Given the description of an element on the screen output the (x, y) to click on. 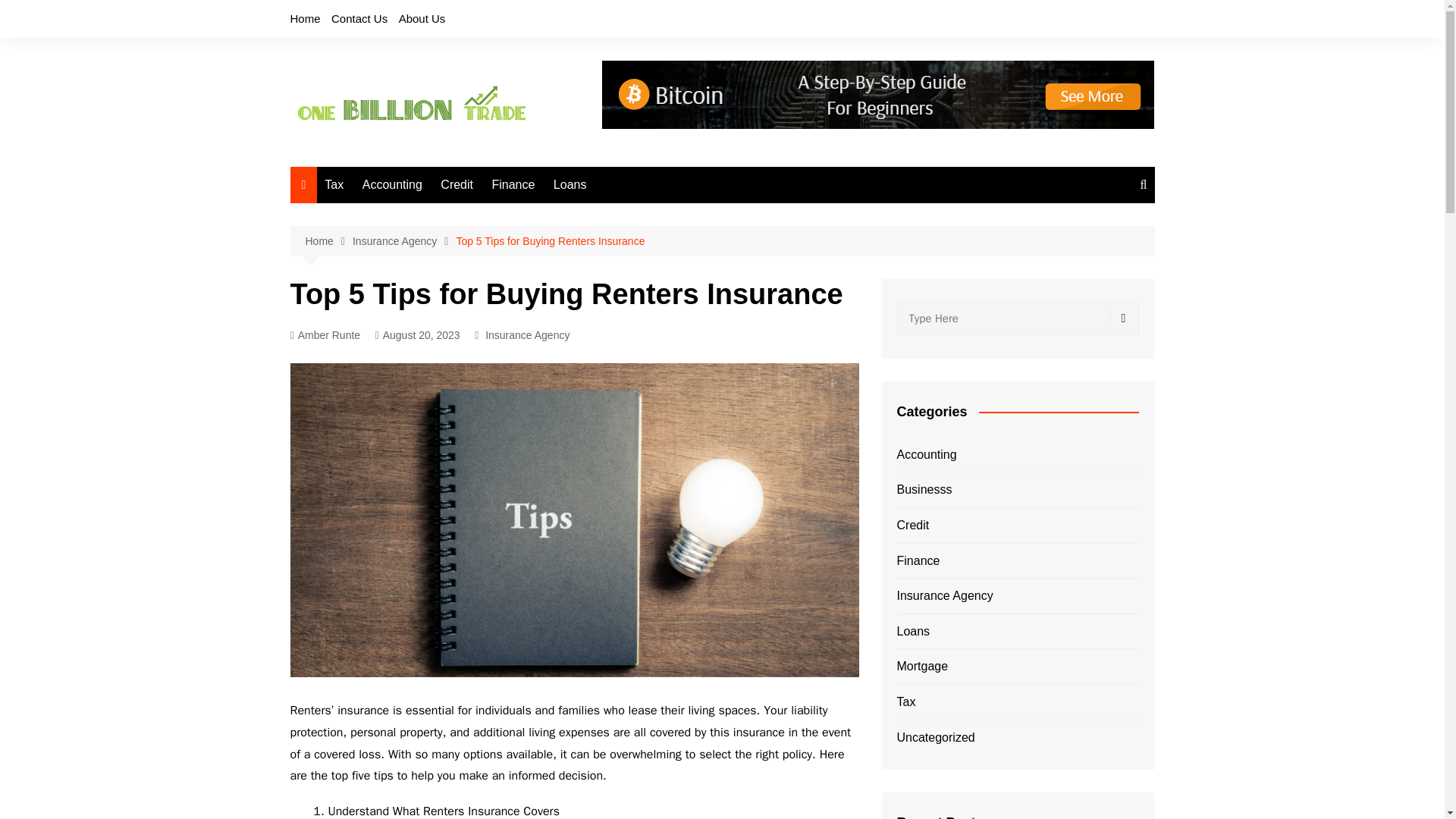
Loans (570, 185)
August 20, 2023 (417, 334)
Credit (456, 185)
Businesss (924, 489)
Loans (913, 631)
Accounting (926, 455)
Mortgage (921, 666)
Home (304, 18)
Amber Runte (324, 334)
Accounting (392, 185)
Tax (333, 185)
Credit (912, 525)
Top 5 Tips for Buying Renters Insurance (550, 240)
Uncategorized (935, 737)
Insurance Agency (944, 596)
